Given the description of an element on the screen output the (x, y) to click on. 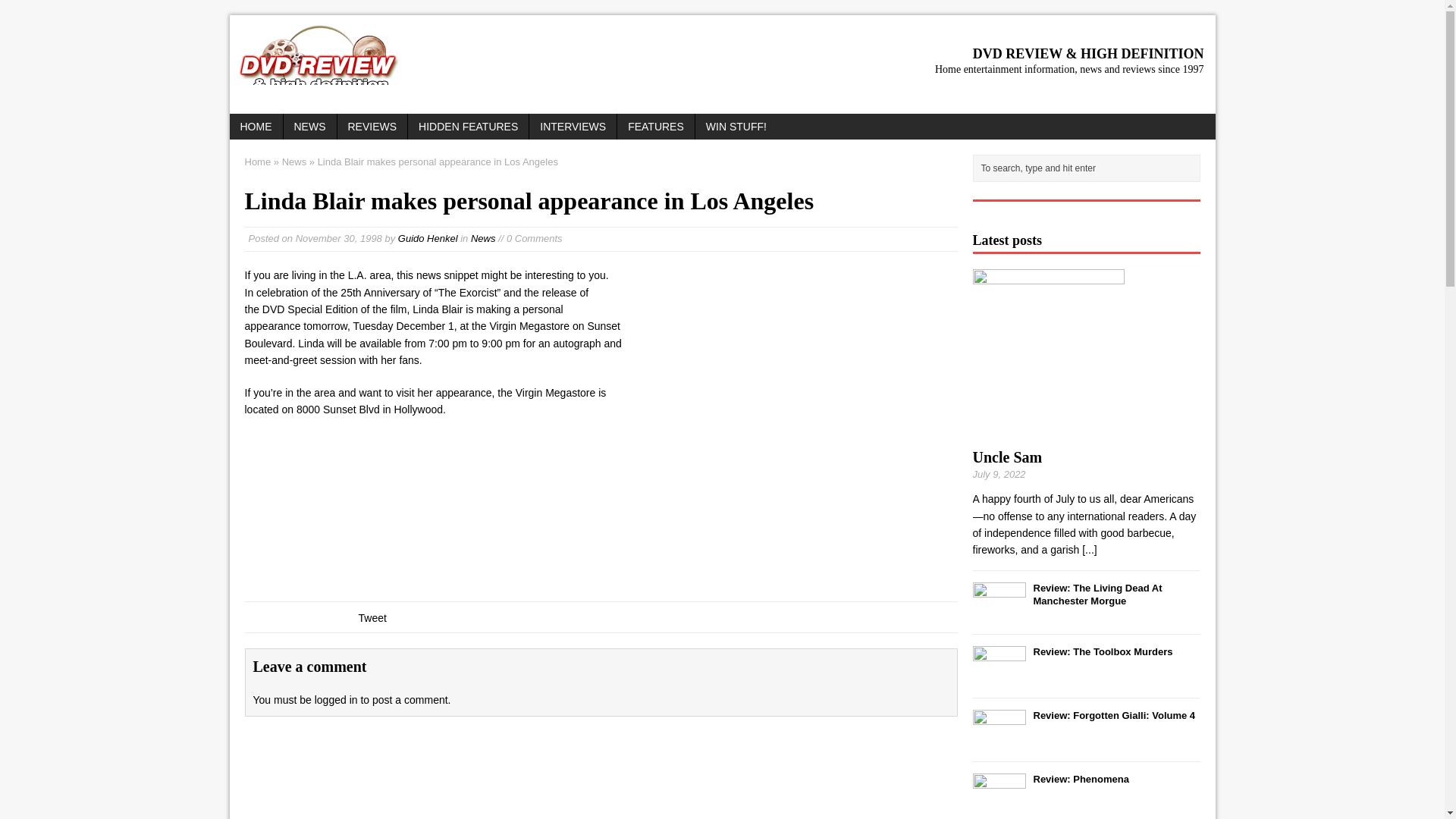
REVIEWS (371, 126)
FEATURES (655, 126)
logged in (336, 699)
Uncle Sam (1088, 549)
Review: Forgotten Gialli: Volume 4 (1113, 715)
HOME (255, 126)
Forgotten Gialli: Volume 4 (998, 740)
The Toolbox Murders (1102, 651)
HIDDEN FEATURES (467, 126)
Review: The Living Dead At Manchester Morgue (1096, 594)
